Given the description of an element on the screen output the (x, y) to click on. 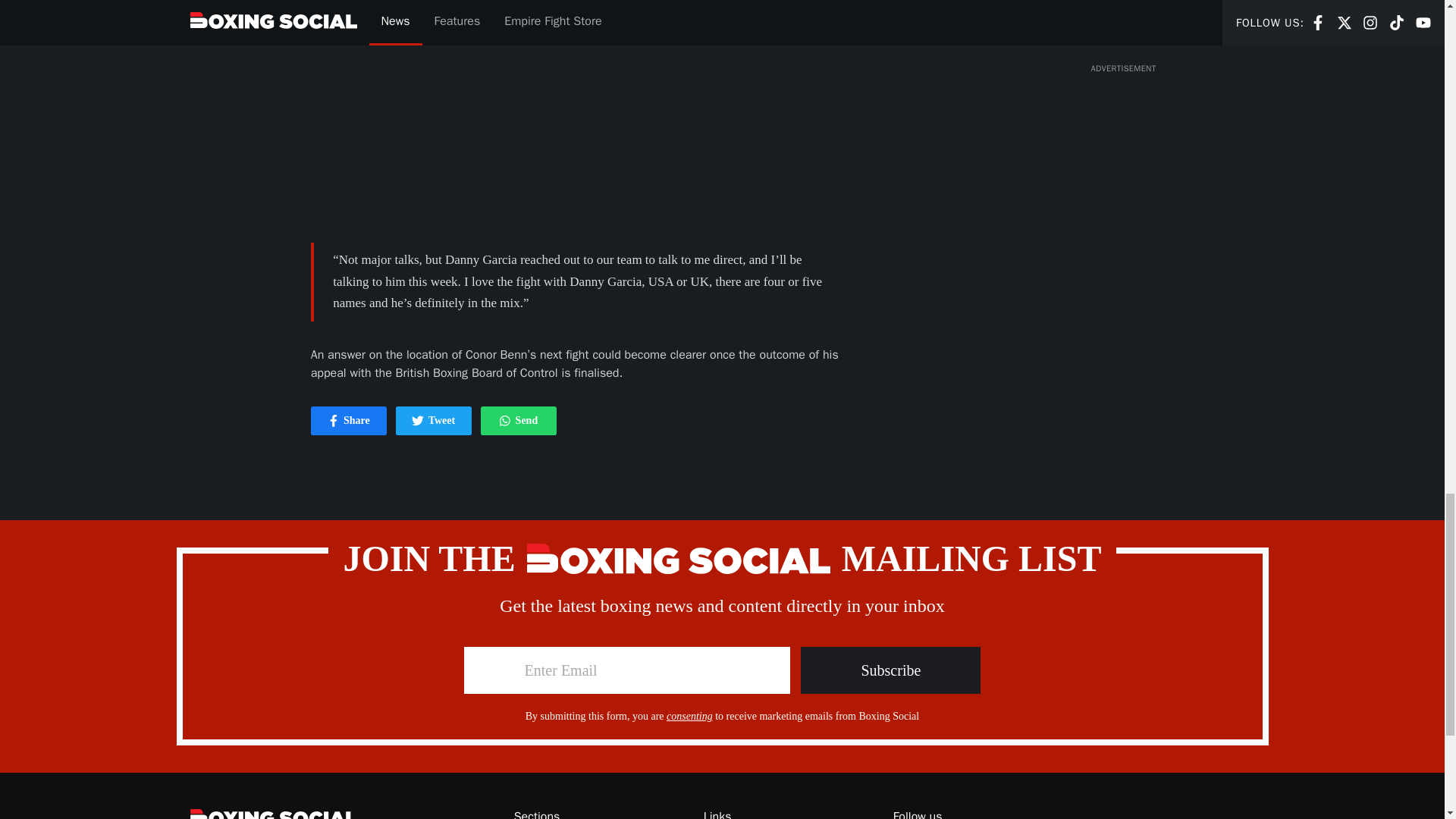
Twitter (417, 420)
Facebook (333, 420)
consenting (689, 715)
Subscribe (349, 420)
Subscribe (518, 420)
WhatsApp (433, 420)
